Given the description of an element on the screen output the (x, y) to click on. 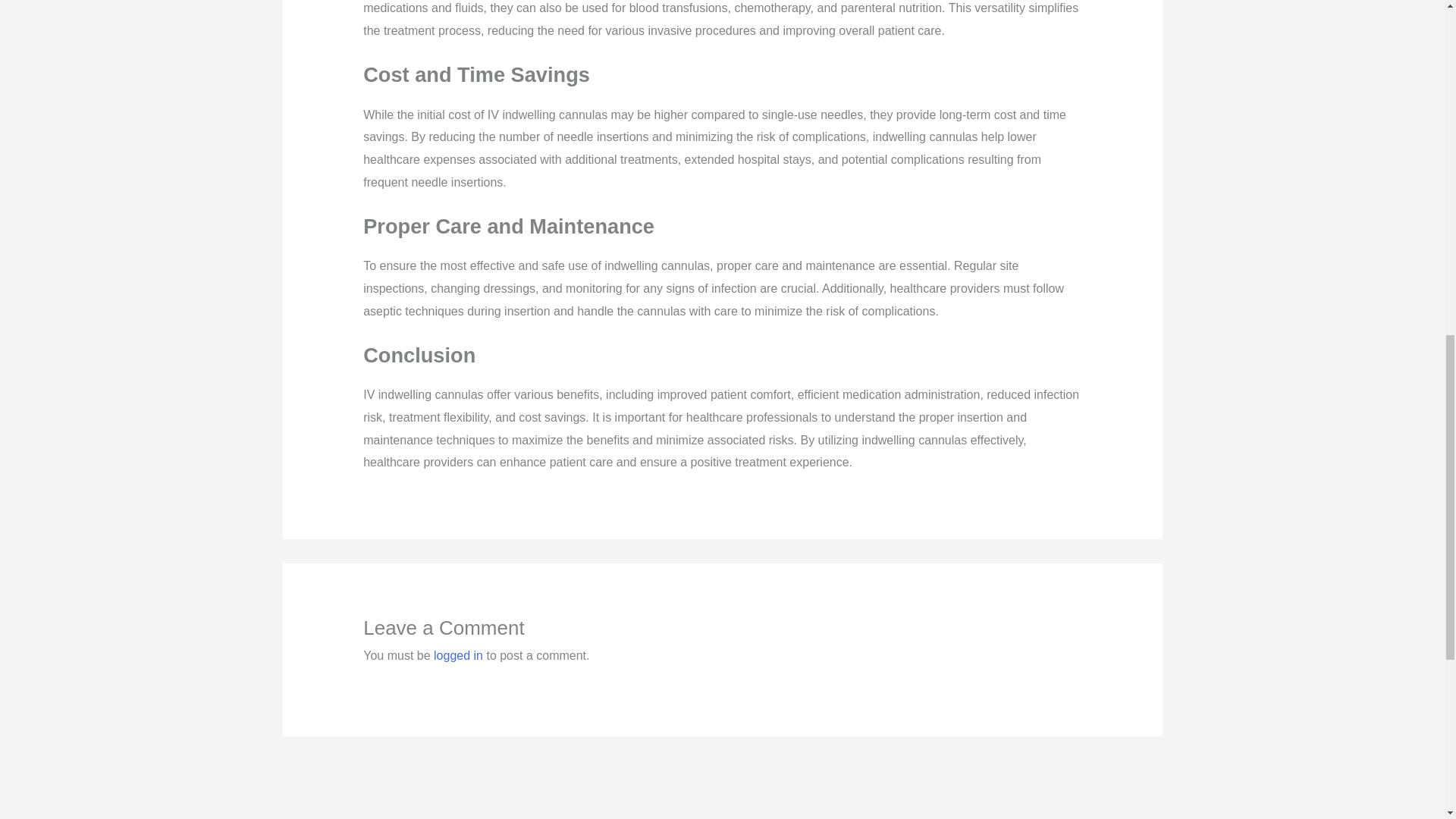
logged in (458, 655)
